Given the description of an element on the screen output the (x, y) to click on. 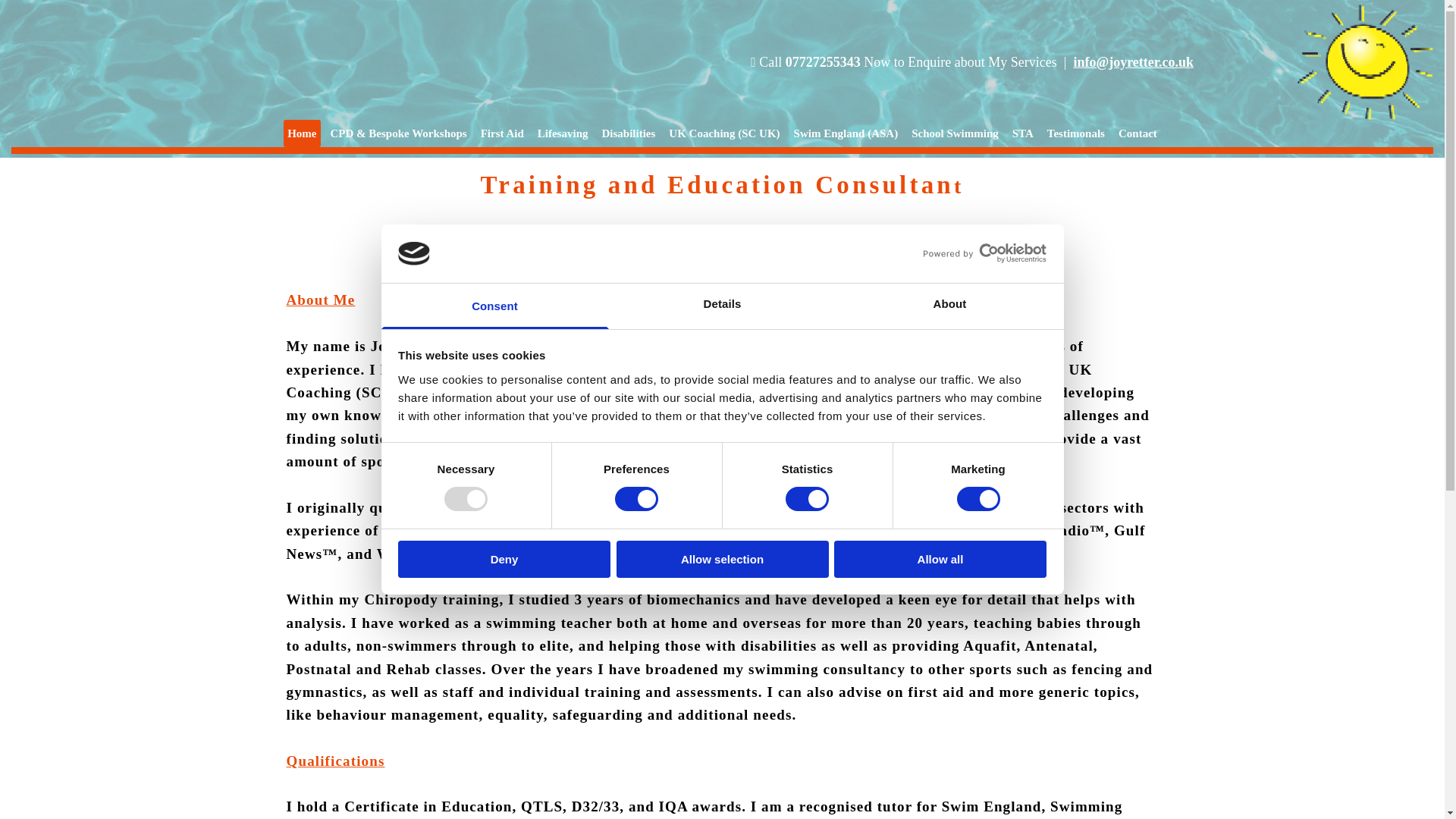
Consent (494, 306)
Disabilities (627, 133)
Details (721, 306)
Deny (503, 559)
Allow all (940, 559)
Lifesaving (563, 133)
Home (301, 133)
First Aid (502, 133)
About (948, 306)
Allow selection (721, 559)
